Given the description of an element on the screen output the (x, y) to click on. 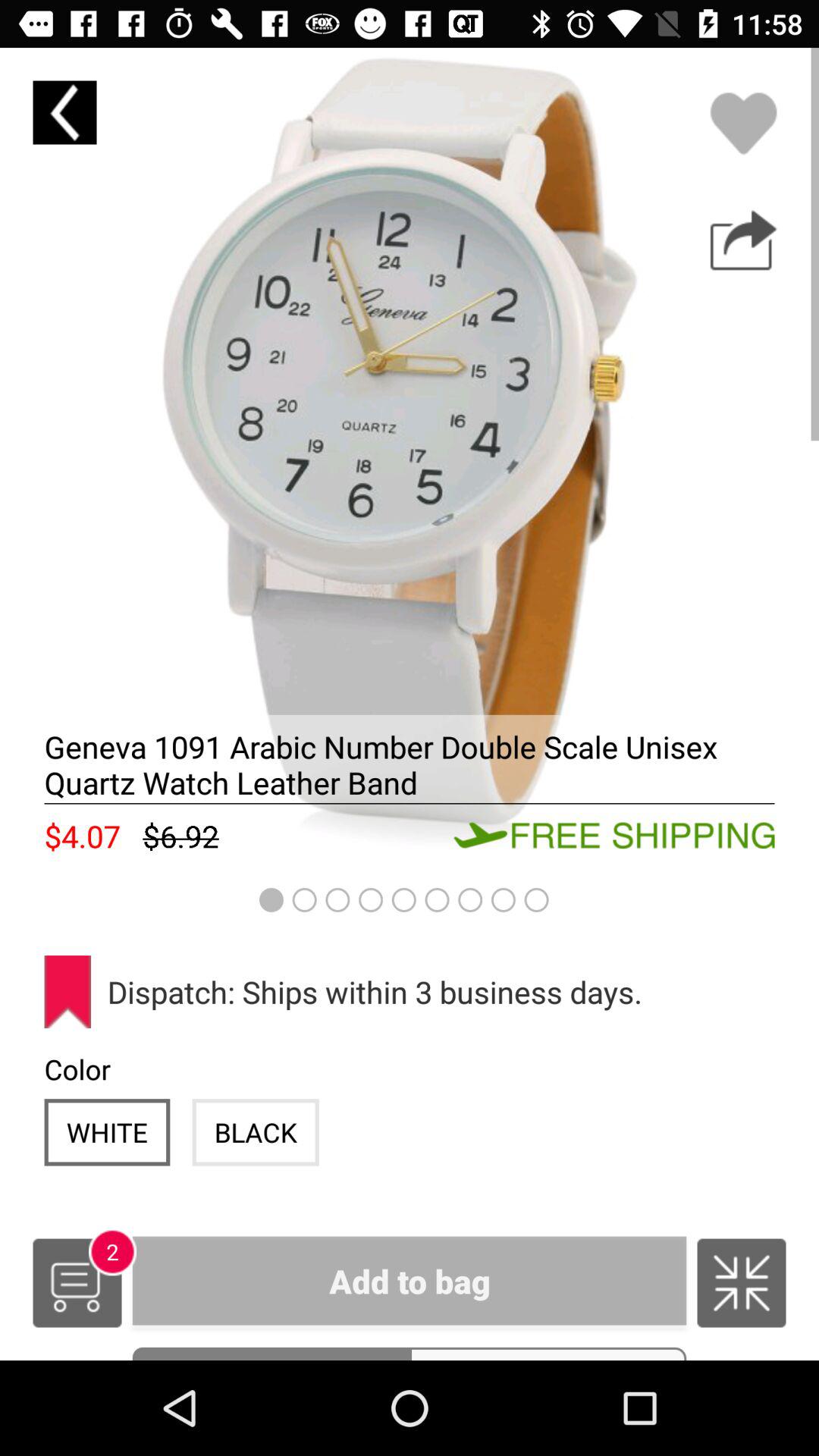
share the item (743, 240)
